Given the description of an element on the screen output the (x, y) to click on. 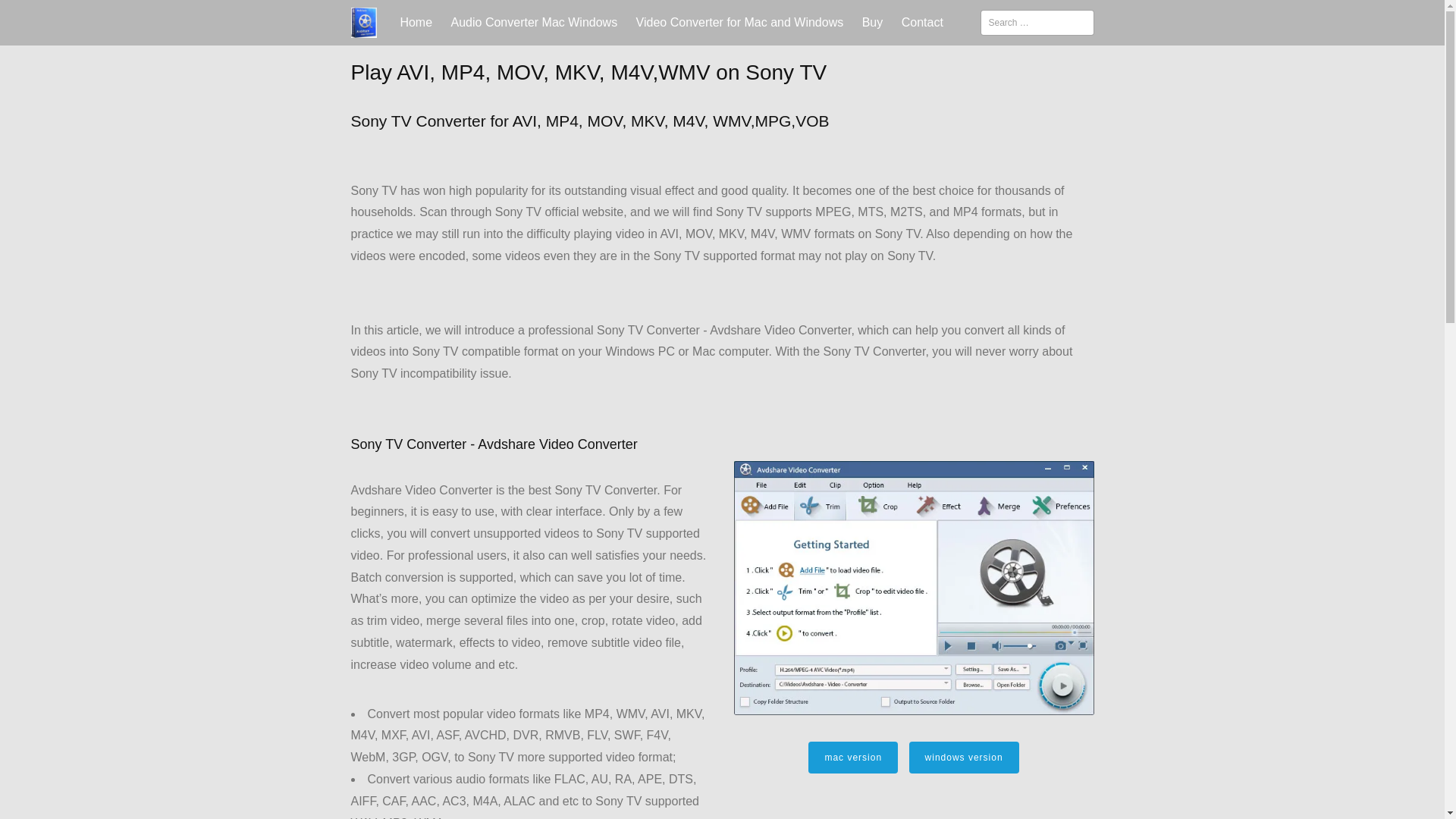
Video Converter for Mac and Windows (739, 22)
Home (415, 22)
Contact (921, 22)
mac version (853, 757)
windows version (963, 757)
Audio Converter Mac Windows (535, 22)
Search (32, 15)
